Given the description of an element on the screen output the (x, y) to click on. 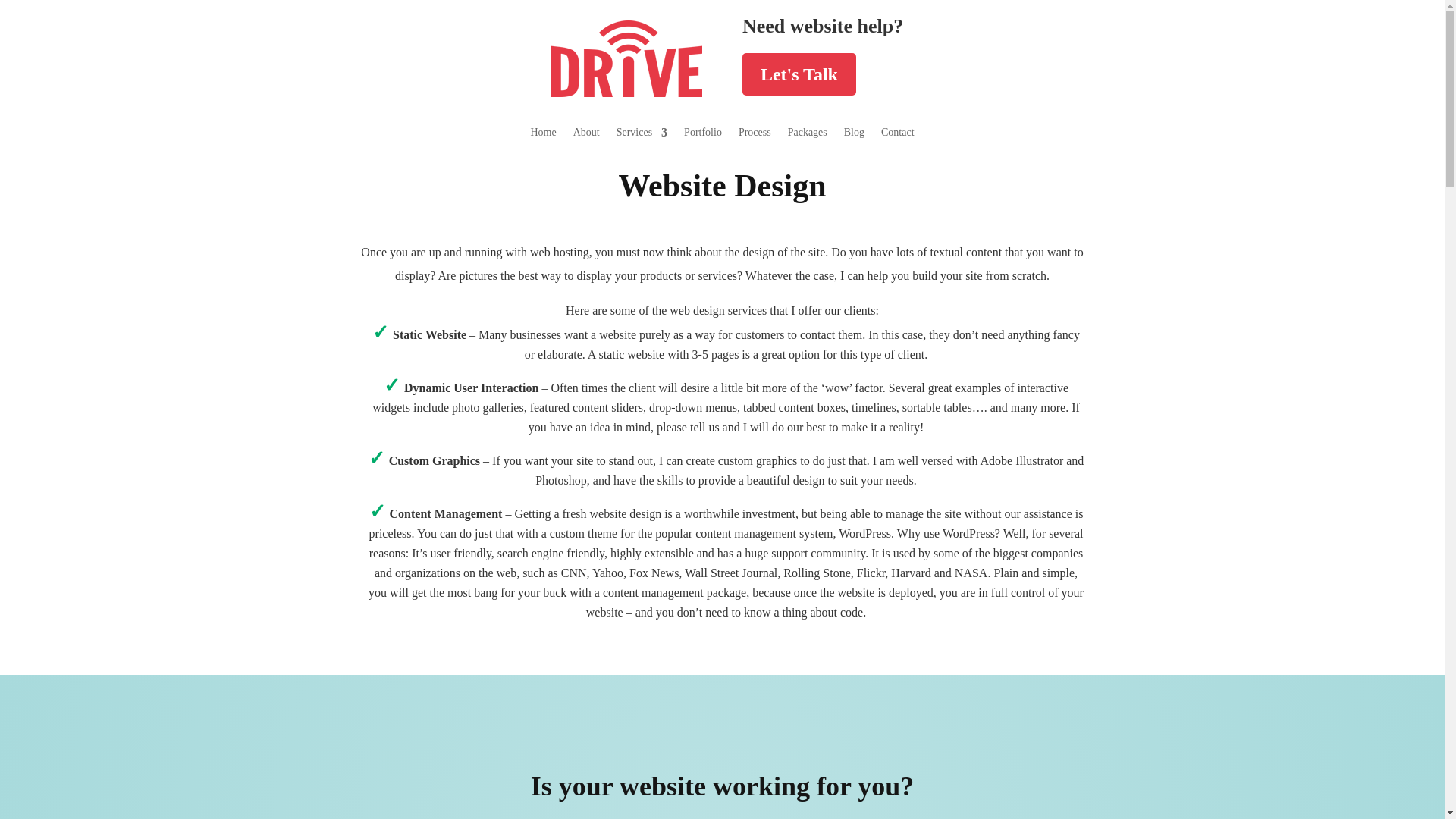
Home (542, 135)
drive-logo (625, 58)
Packages (807, 135)
Services (640, 135)
Portfolio (703, 135)
Let's Talk (799, 74)
About (586, 135)
Blog (854, 135)
Contact (897, 135)
Process (754, 135)
